Given the description of an element on the screen output the (x, y) to click on. 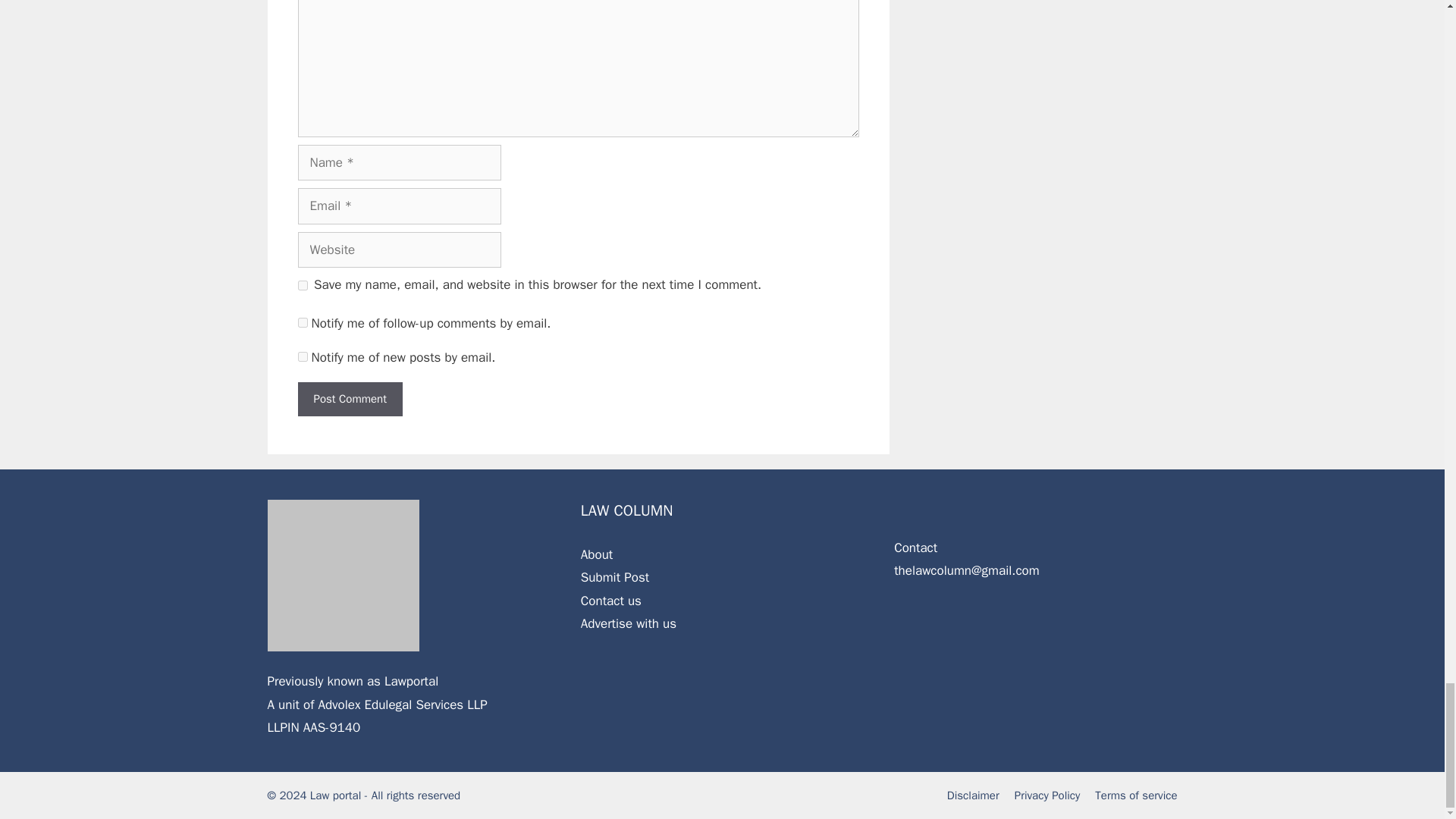
subscribe (302, 322)
yes (302, 285)
Post Comment (349, 399)
subscribe (302, 356)
